Given the description of an element on the screen output the (x, y) to click on. 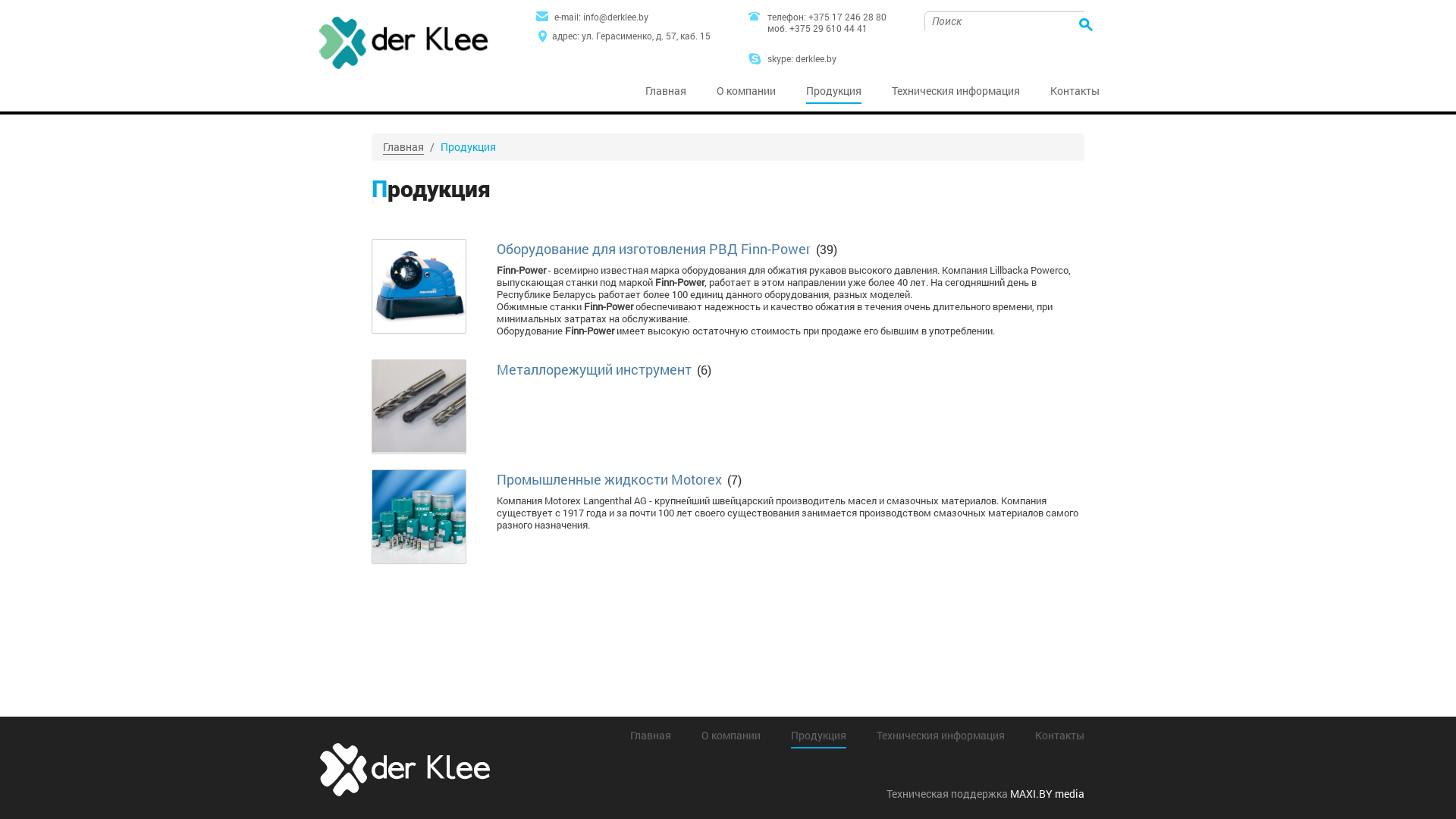
+375 17 246 28 80 Element type: text (847, 16)
info@derklee.by Element type: text (615, 16)
MAXI.BY media Element type: text (1047, 793)
derklee.by Element type: text (815, 58)
